Given the description of an element on the screen output the (x, y) to click on. 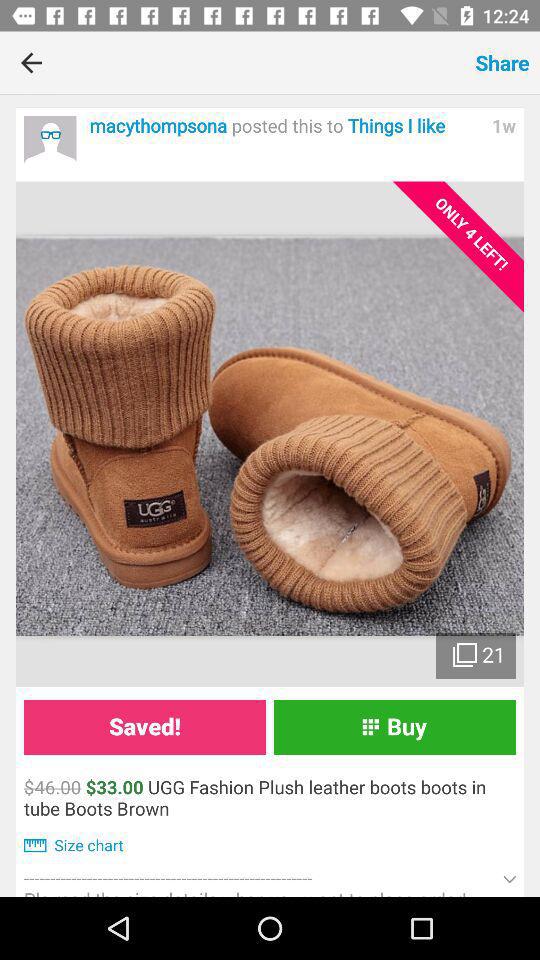
click the saved! (144, 726)
